Given the description of an element on the screen output the (x, y) to click on. 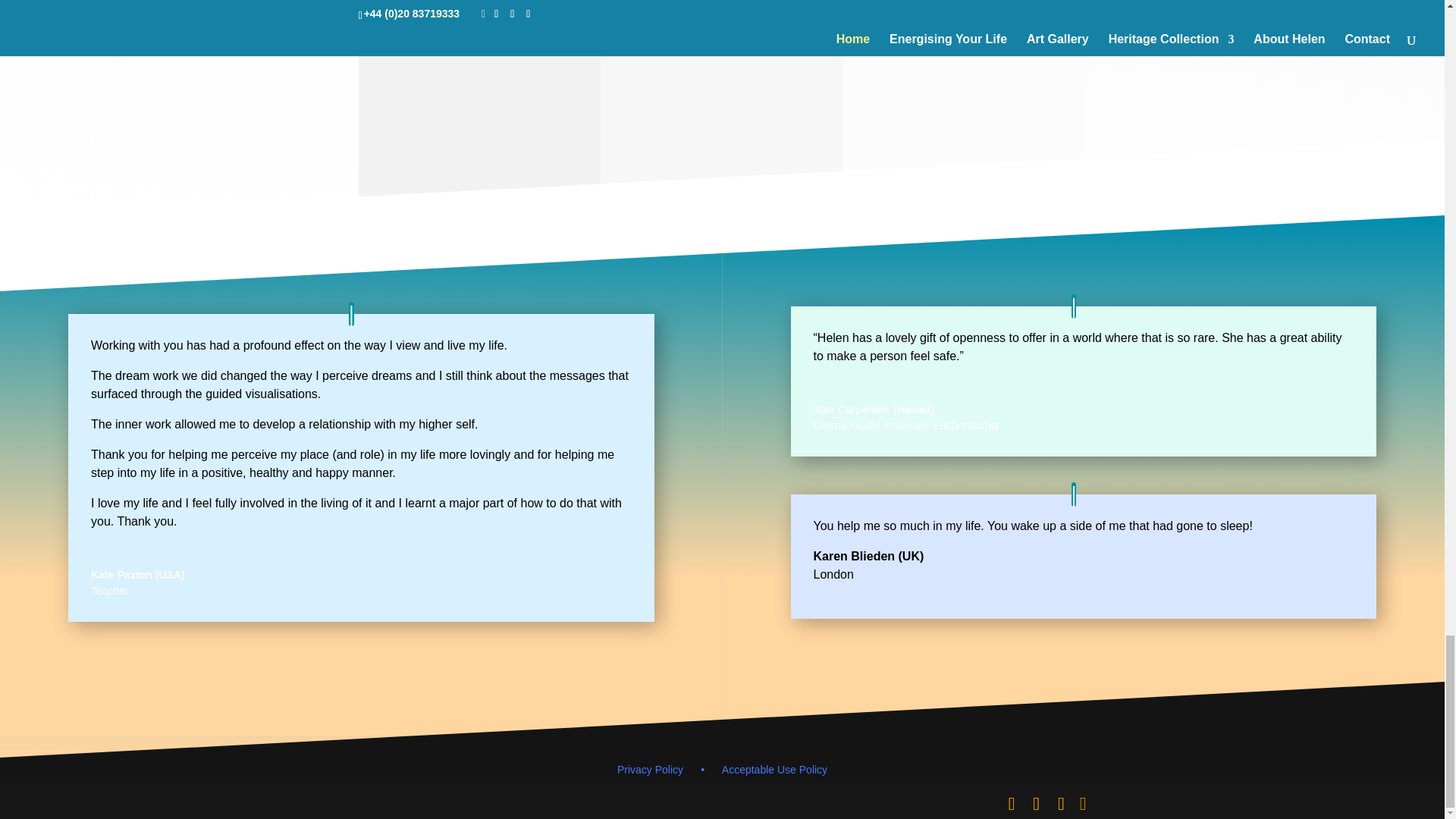
Privacy Policy (669, 769)
Acceptable Use Policy (774, 769)
Acceptable Use Policy (774, 769)
